Given the description of an element on the screen output the (x, y) to click on. 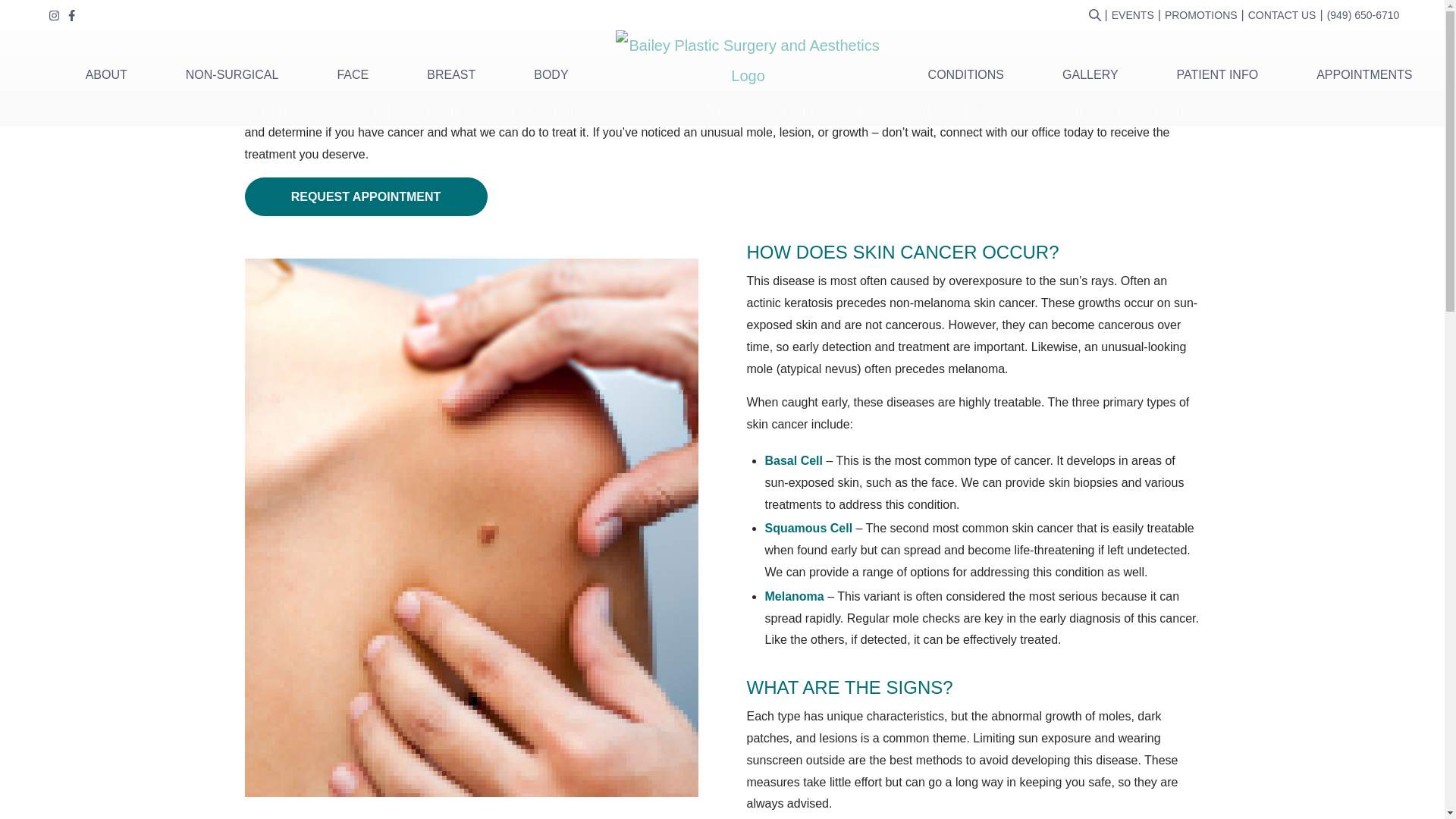
PROMOTIONS (1200, 14)
SEARCH (1094, 15)
CONTACT US (1281, 14)
SEARCH (1094, 15)
EVENTS (1133, 14)
NON-SURGICAL (232, 74)
